Given the description of an element on the screen output the (x, y) to click on. 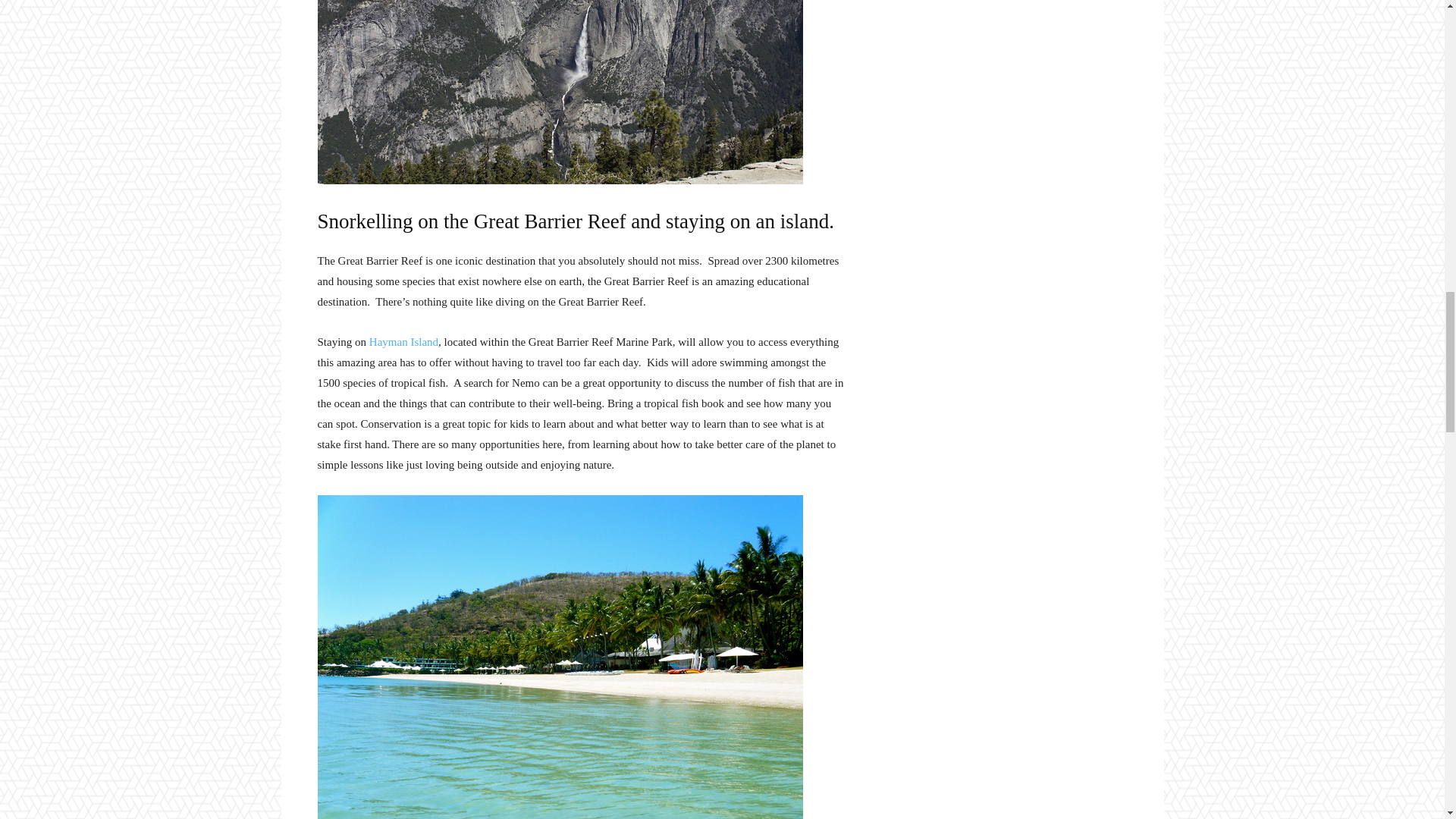
Yosemite by akasped, on Flickr (580, 92)
